Given the description of an element on the screen output the (x, y) to click on. 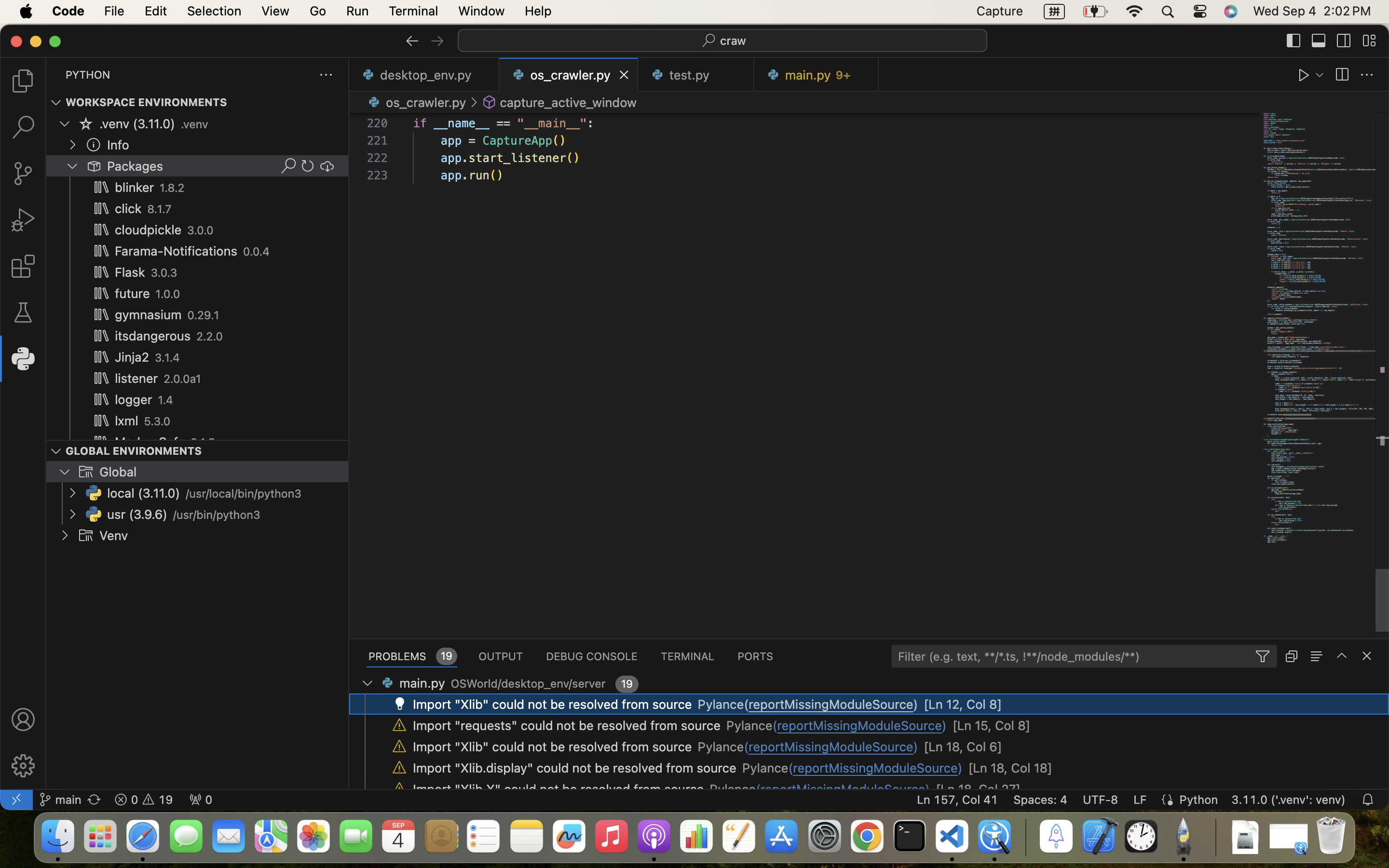
 Element type: AXStaticText (473, 101)
1.0.0 Element type: AXStaticText (167, 293)
0 TERMINAL Element type: AXRadioButton (687, 655)
 Element type: AXCheckBox (1293, 40)
 Element type: AXGroup (23, 219)
